Given the description of an element on the screen output the (x, y) to click on. 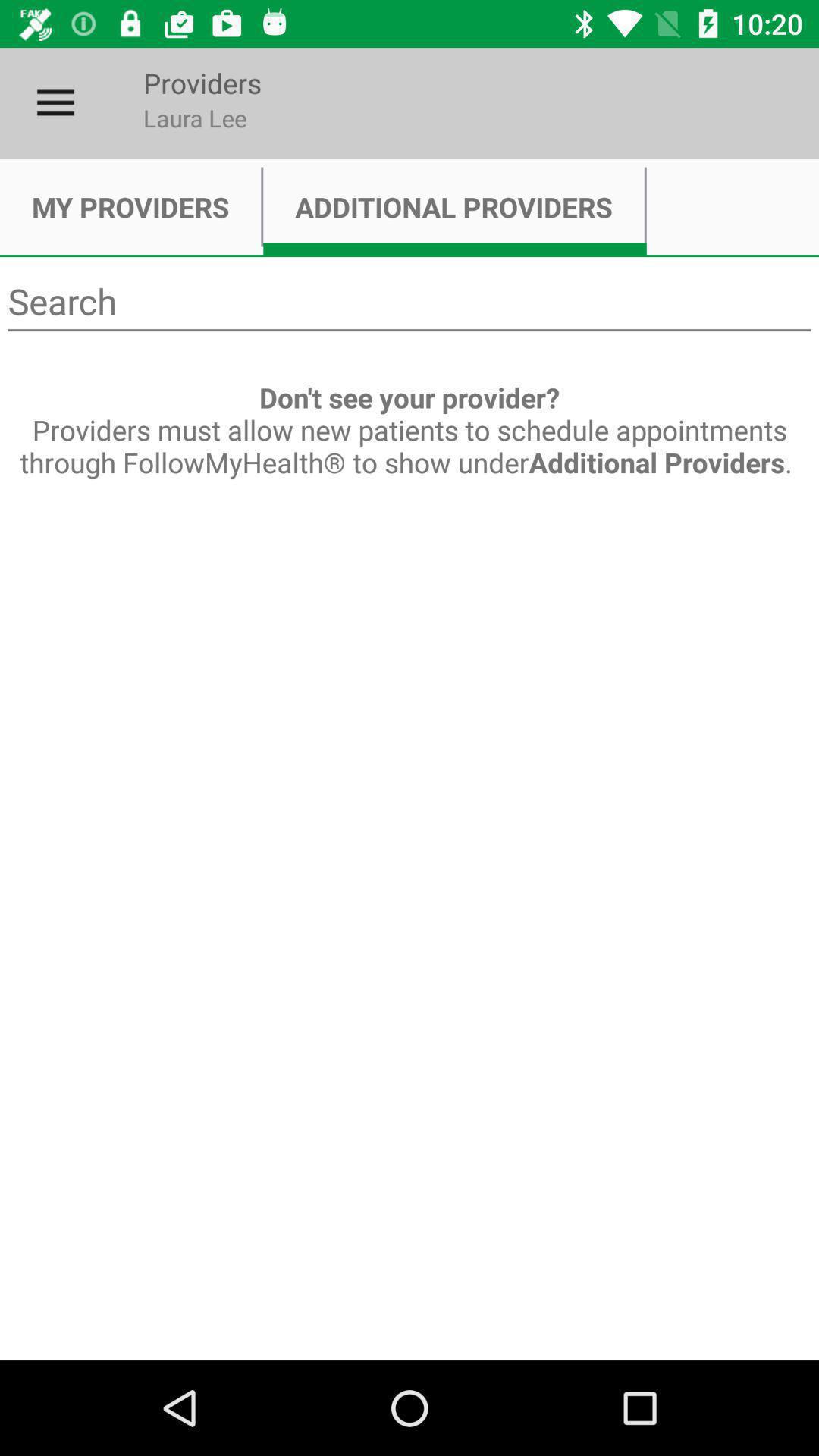
search option using keywords (409, 301)
